Given the description of an element on the screen output the (x, y) to click on. 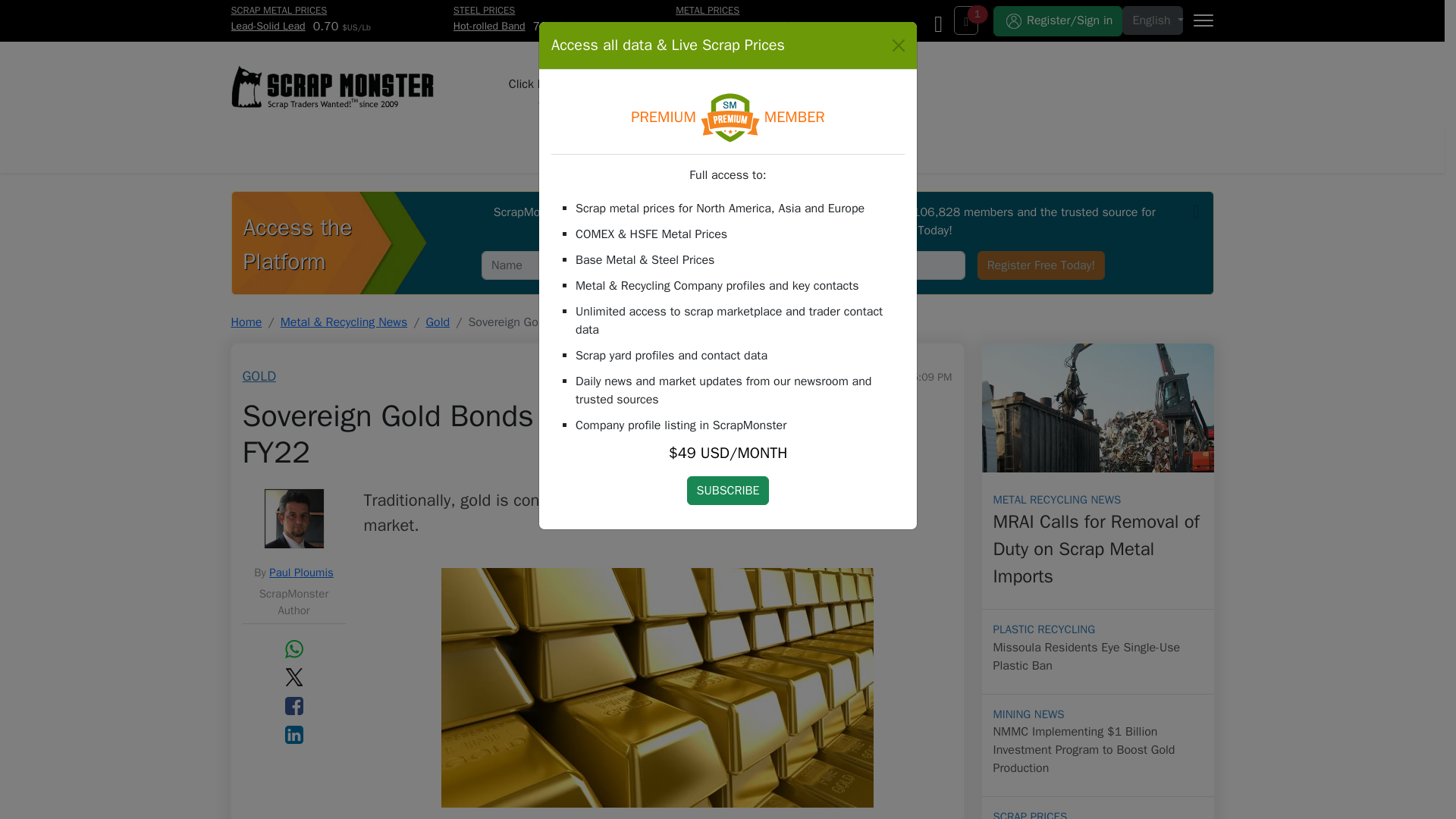
SCRAP METAL PRICES (382, 149)
SCRAP METAL PRICES (278, 10)
METAL PRICES (707, 10)
English (1152, 20)
NEWS (491, 149)
STEEL PRICES (483, 10)
Yard Finder (967, 149)
Advertisement (1035, 70)
877-418-9957 (615, 102)
HOME (597, 83)
